Given the description of an element on the screen output the (x, y) to click on. 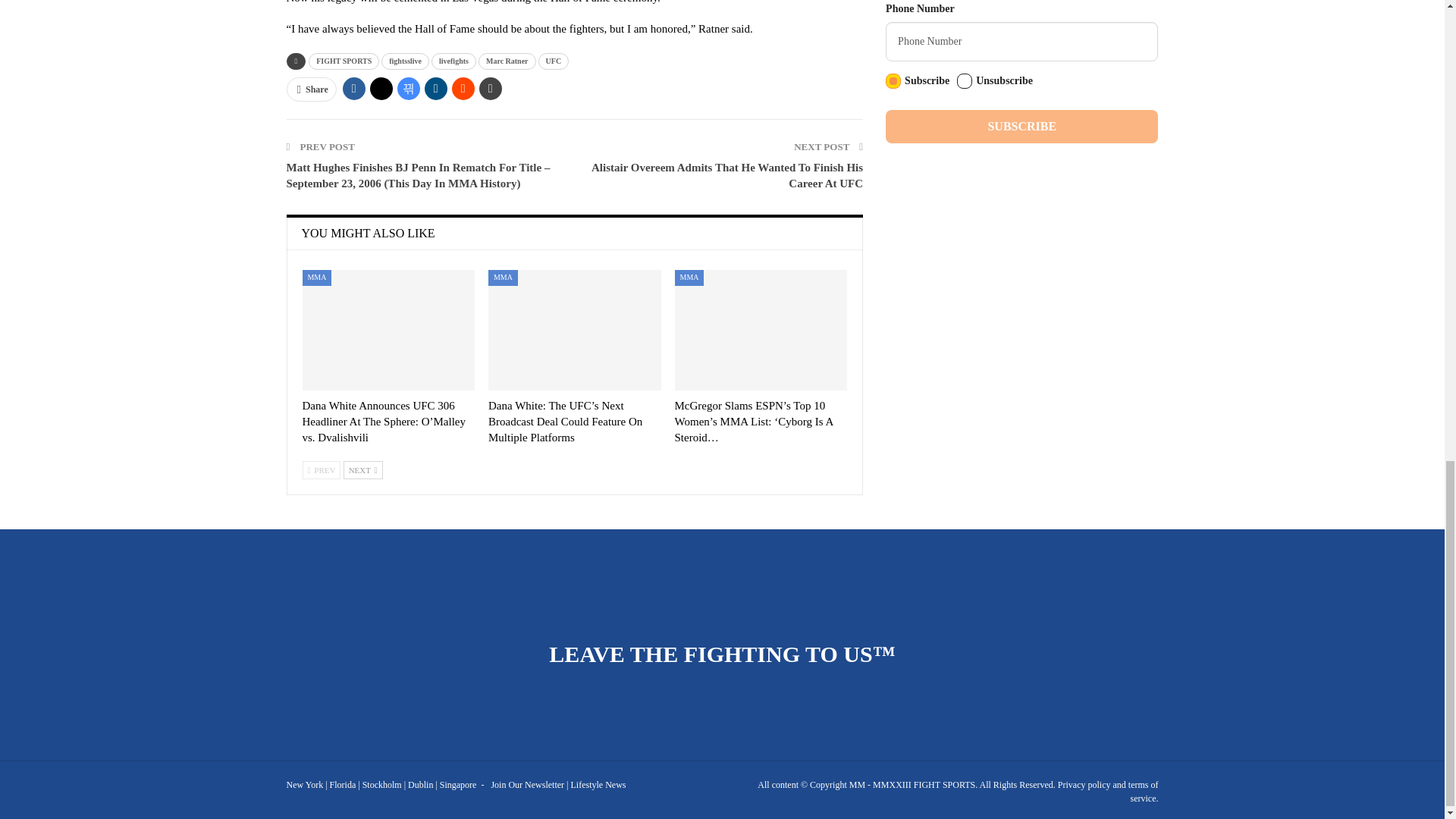
unsubscribe (964, 80)
subscribe (893, 80)
